Given the description of an element on the screen output the (x, y) to click on. 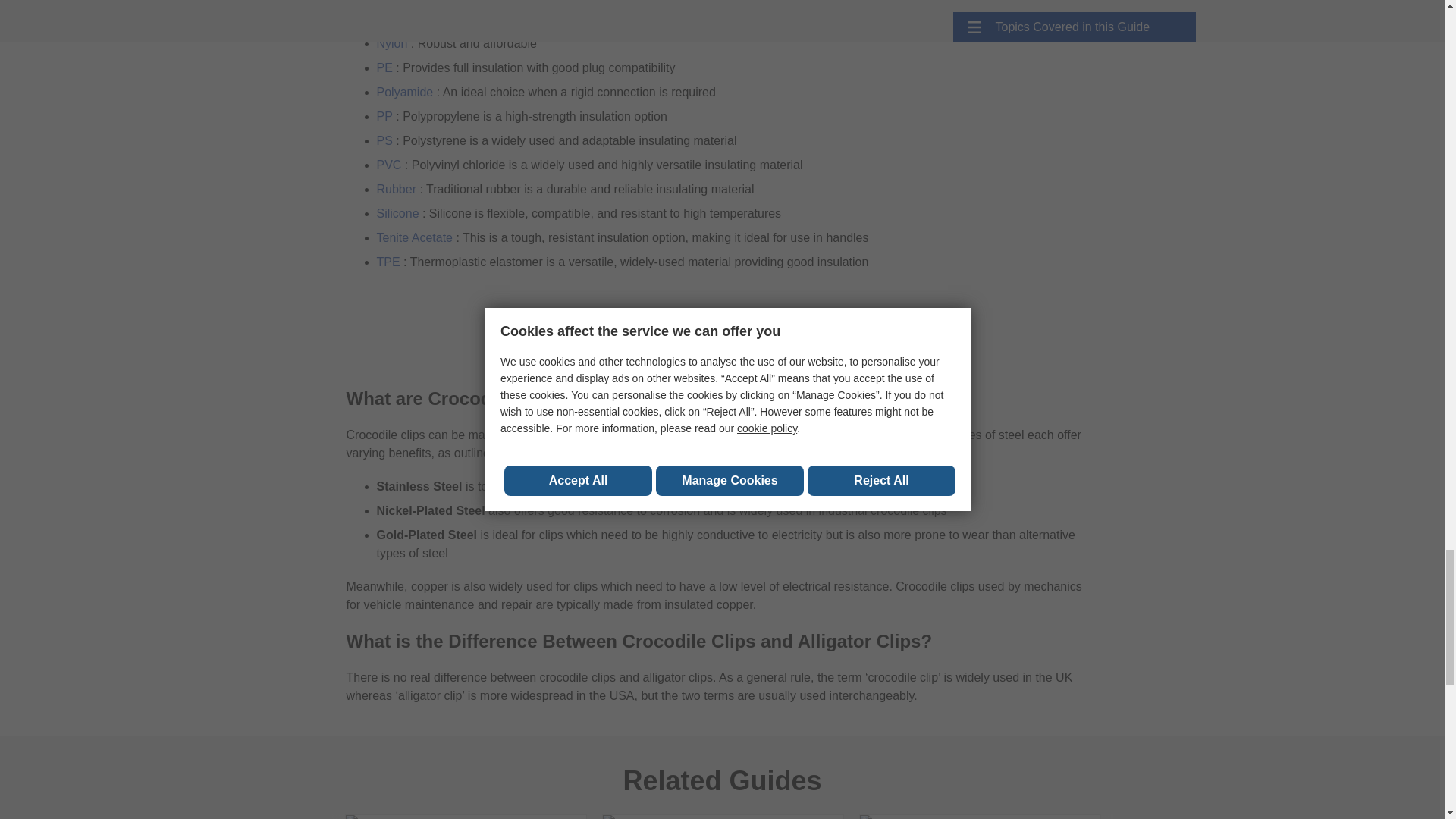
Read more (466, 816)
Read more (980, 816)
Read more (722, 816)
